Given the description of an element on the screen output the (x, y) to click on. 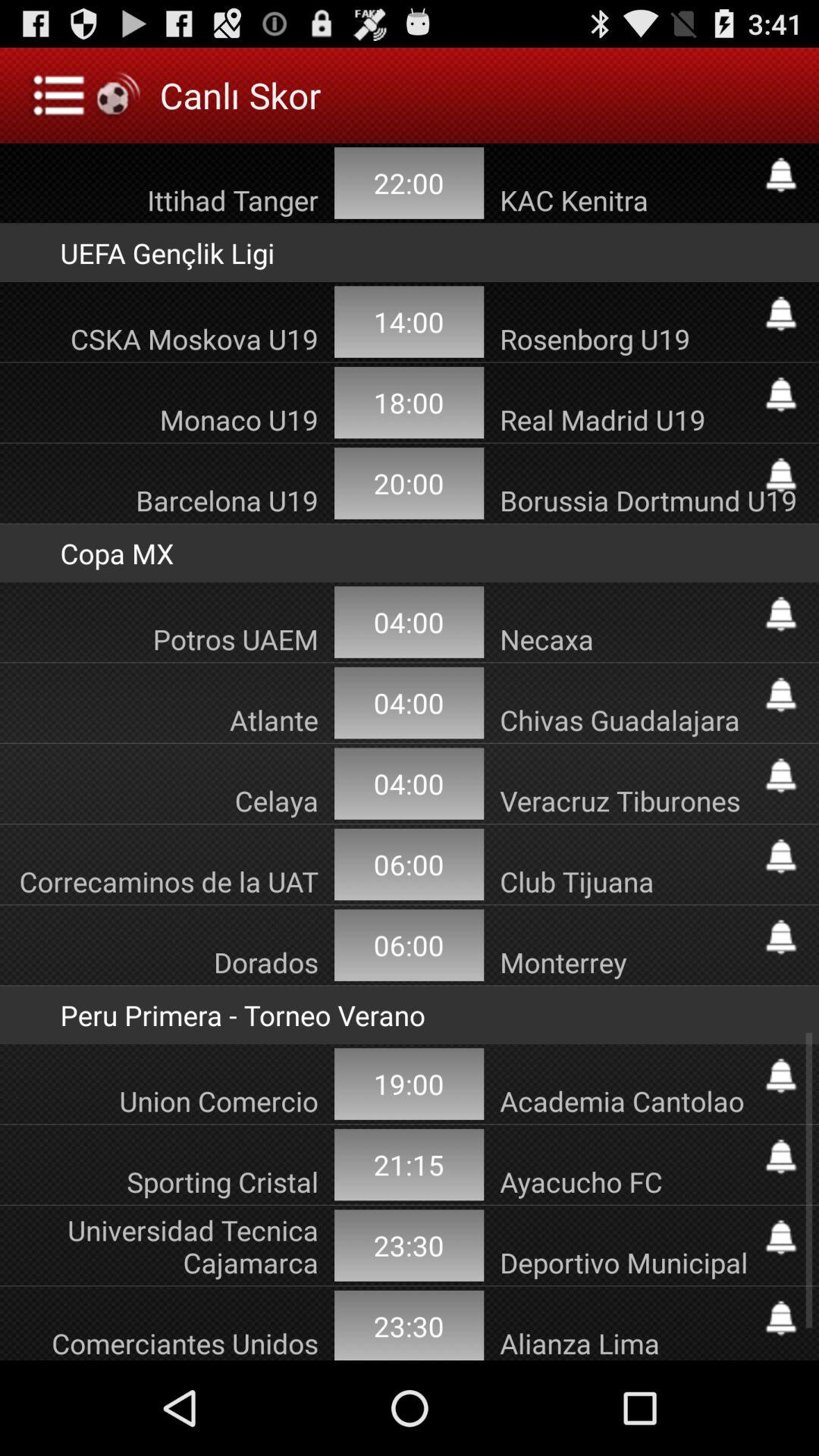
set alarm (780, 614)
